Given the description of an element on the screen output the (x, y) to click on. 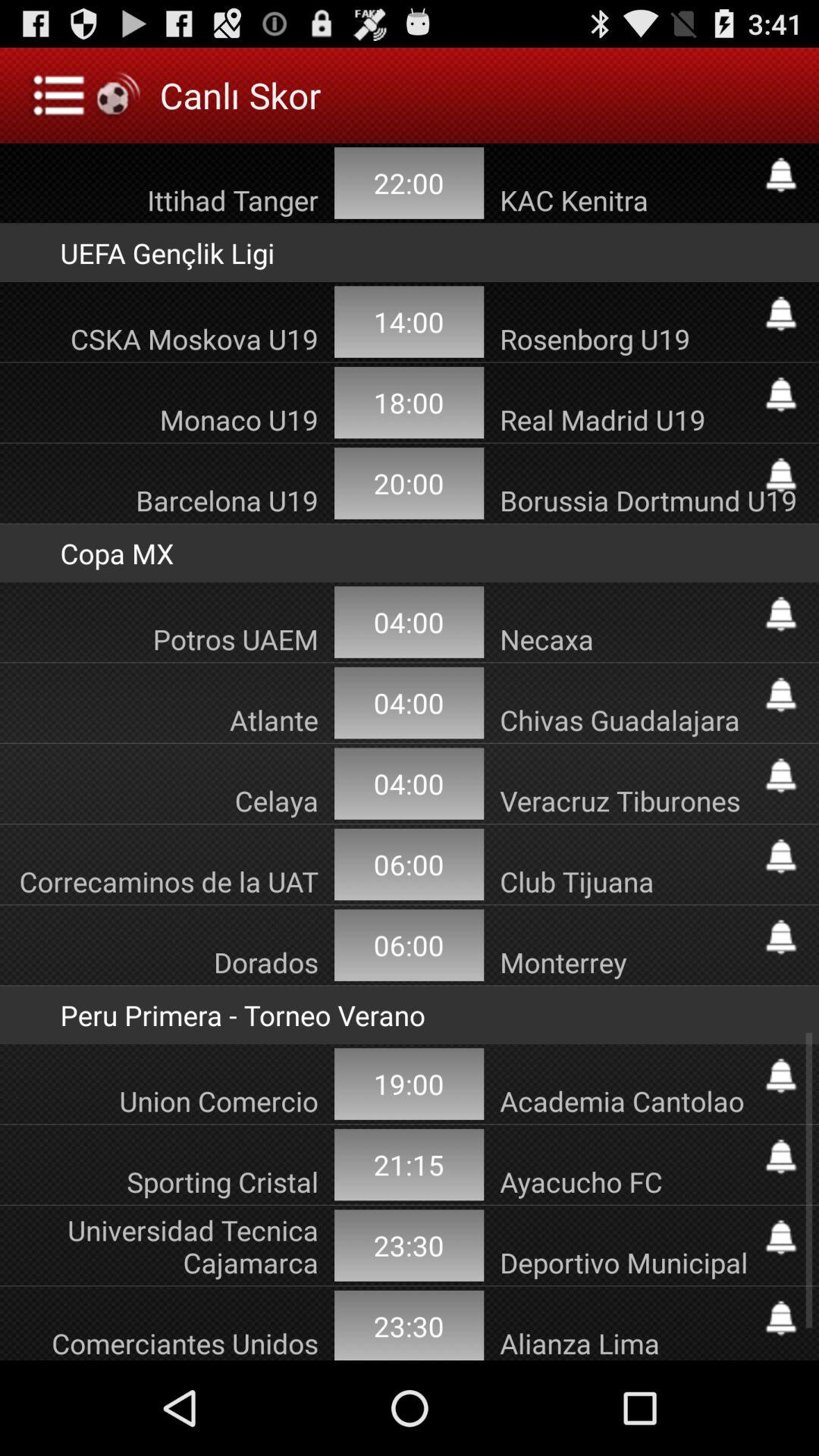
set alarm (780, 614)
